Given the description of an element on the screen output the (x, y) to click on. 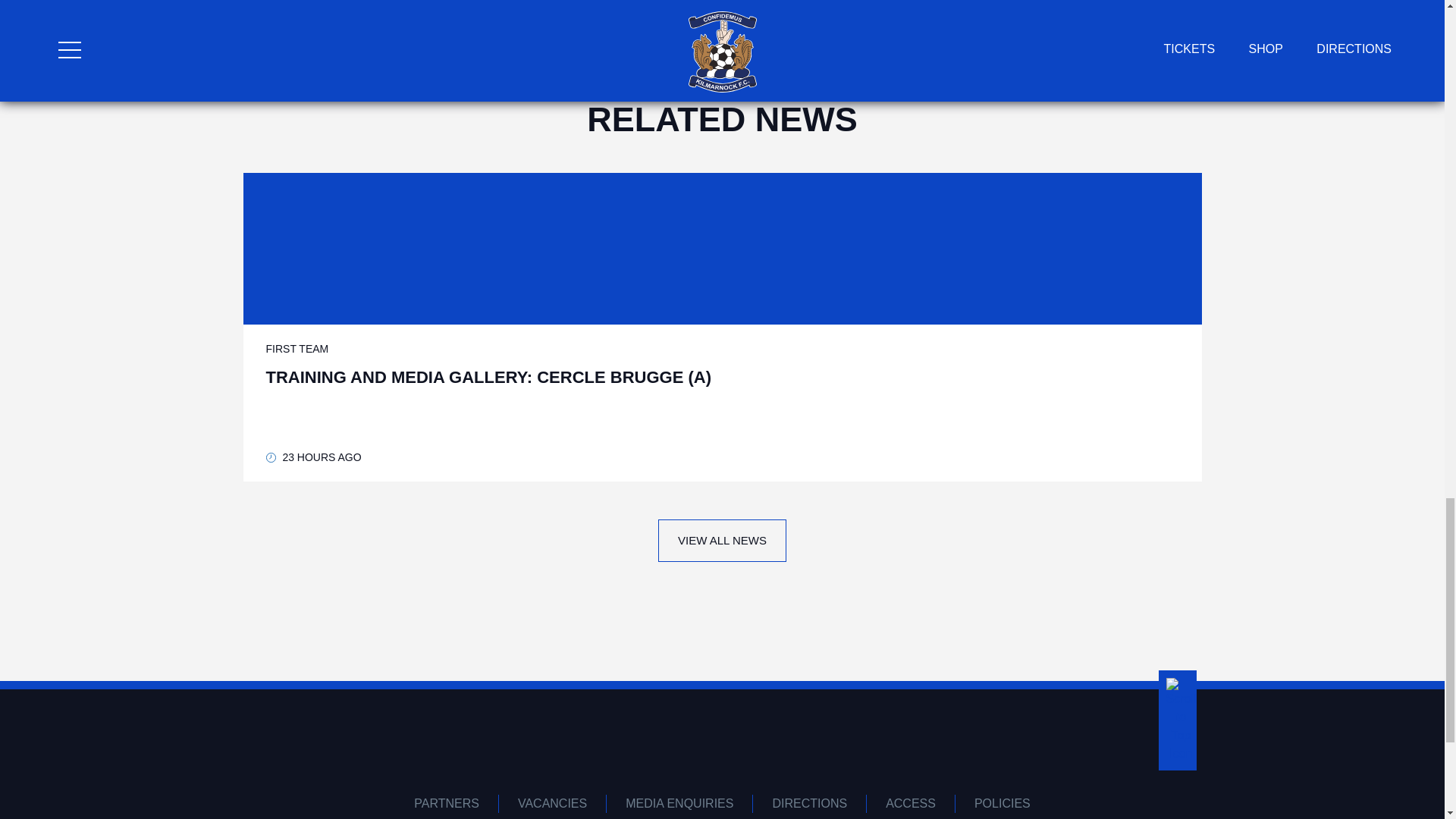
MEDIA ENQUIRIES (679, 803)
VIEW ALL NEWS (722, 540)
PARTNERS (446, 803)
DIRECTIONS (809, 803)
POLICIES (1002, 803)
ACCESS (910, 803)
VACANCIES (553, 803)
